Given the description of an element on the screen output the (x, y) to click on. 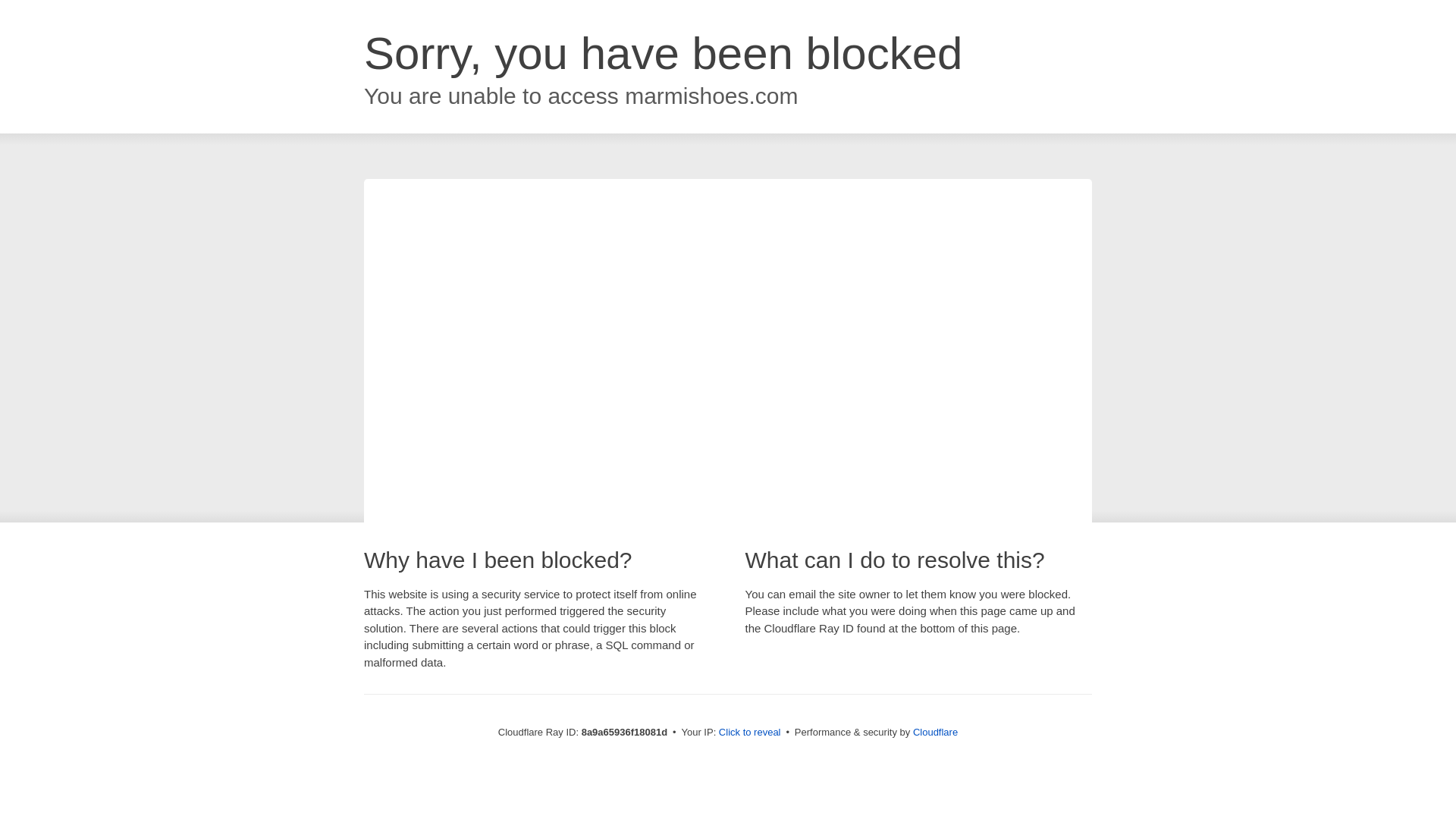
Cloudflare (935, 731)
Click to reveal (749, 732)
